Given the description of an element on the screen output the (x, y) to click on. 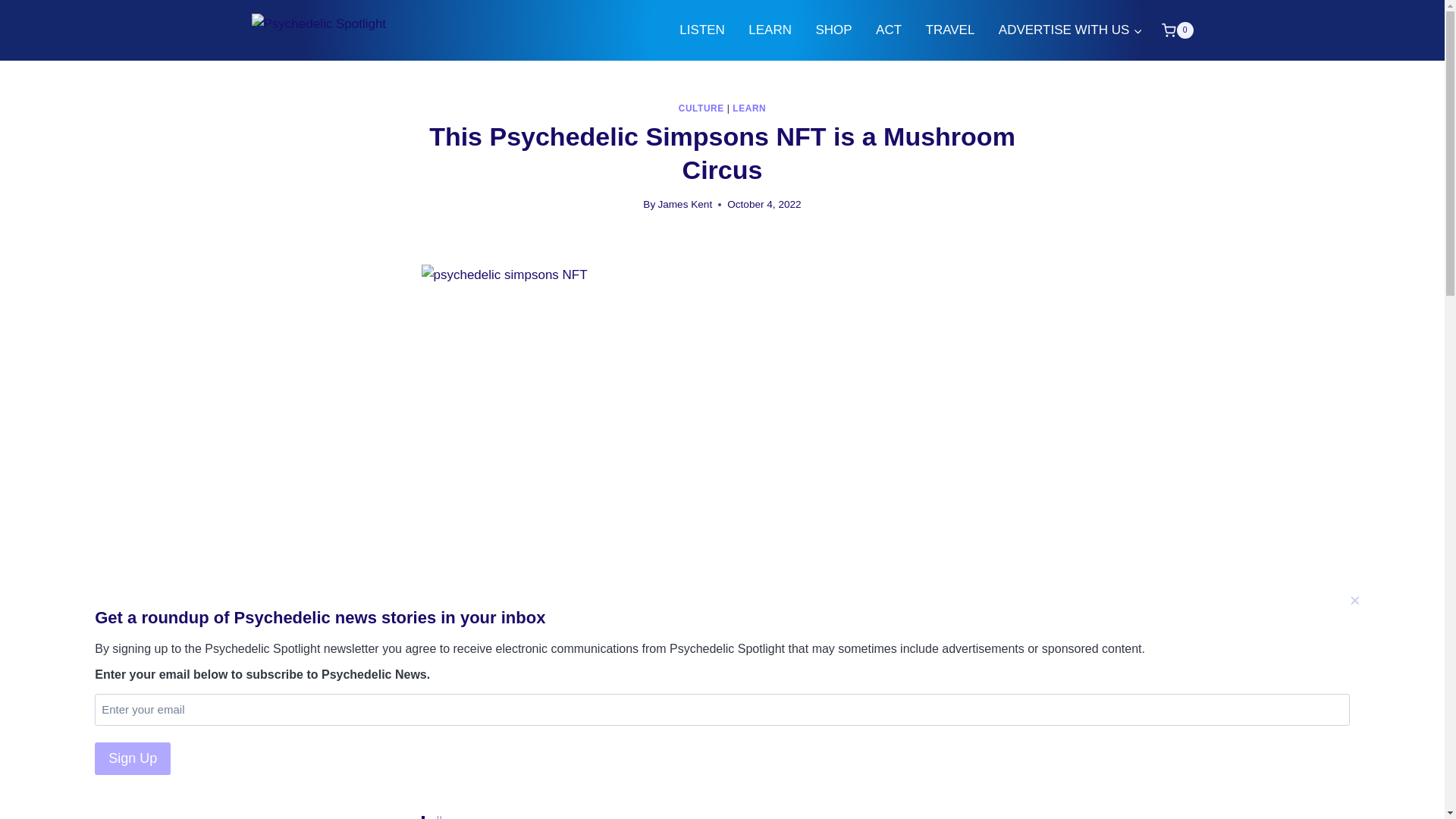
trippy AI animation (882, 643)
ADVERTISE WITH US (1070, 30)
0 (1176, 30)
James Kent (684, 204)
SHOP (833, 30)
CULTURE (700, 108)
LEARN (769, 30)
LEARN (748, 108)
psychedelic inspired cartoons (715, 643)
Sign Up (132, 758)
